Given the description of an element on the screen output the (x, y) to click on. 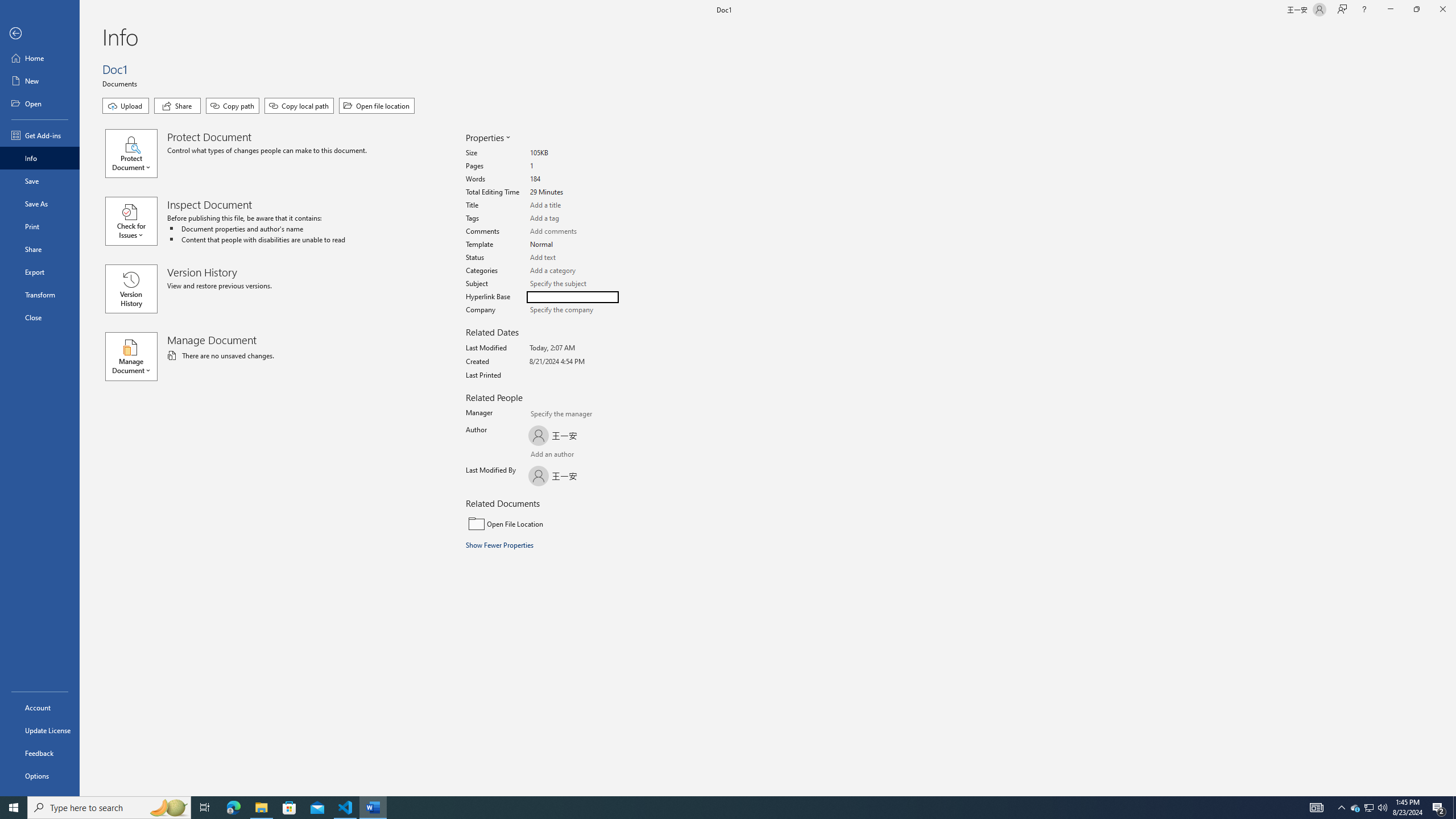
Version History (130, 288)
Back (40, 33)
Copy path (232, 105)
Share (177, 105)
Save As (40, 203)
Open (40, 102)
Manage Document (135, 356)
Company (572, 309)
Words (572, 179)
Protect Document (135, 153)
Documents (120, 83)
Copy local path (298, 105)
